Given the description of an element on the screen output the (x, y) to click on. 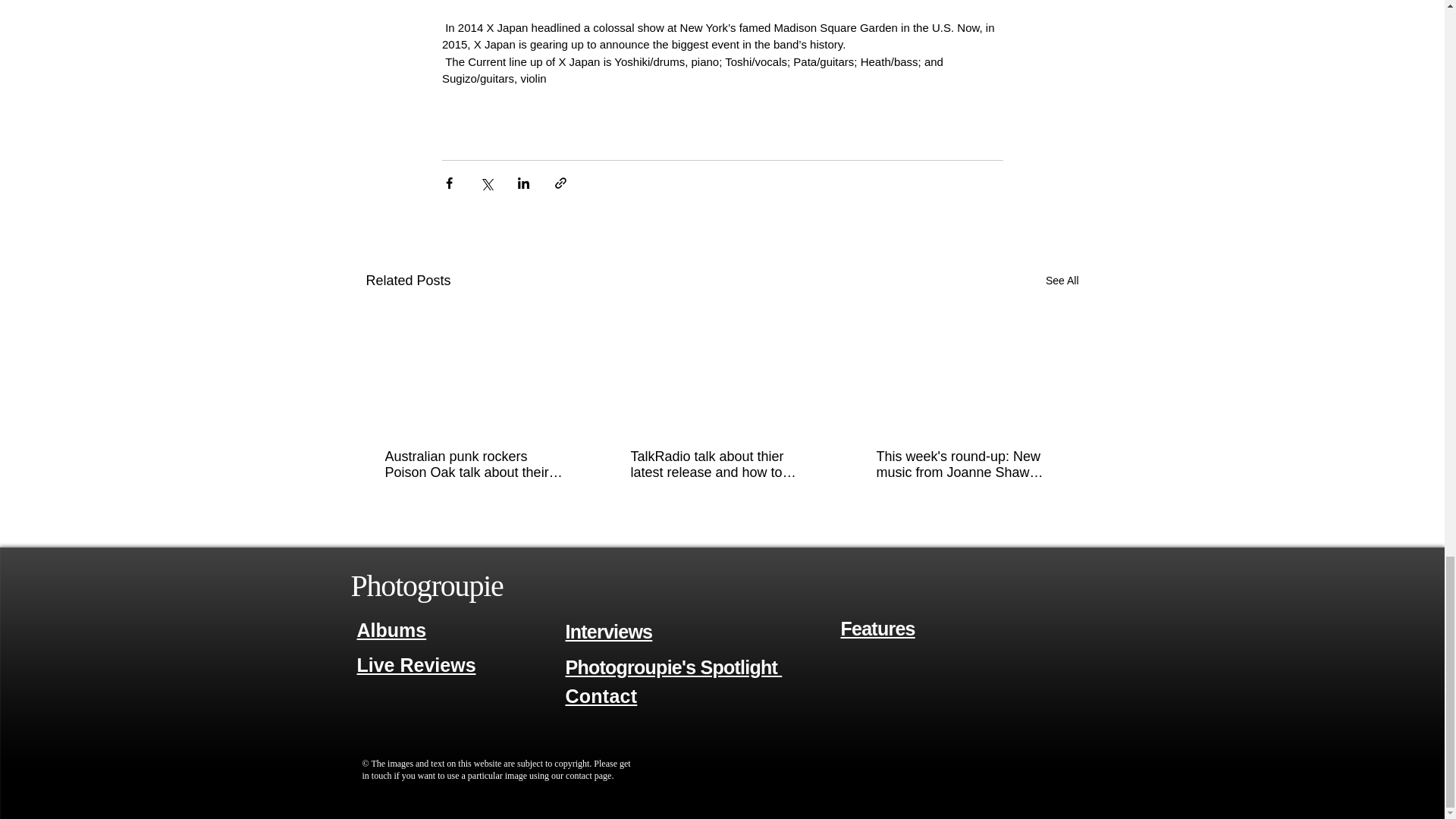
Live Reviews (416, 665)
Interviews (609, 631)
Albums (391, 629)
Photogroupie (426, 585)
Photogroupie's Spotlight  (674, 666)
Contact (601, 695)
See All (1061, 280)
